Given the description of an element on the screen output the (x, y) to click on. 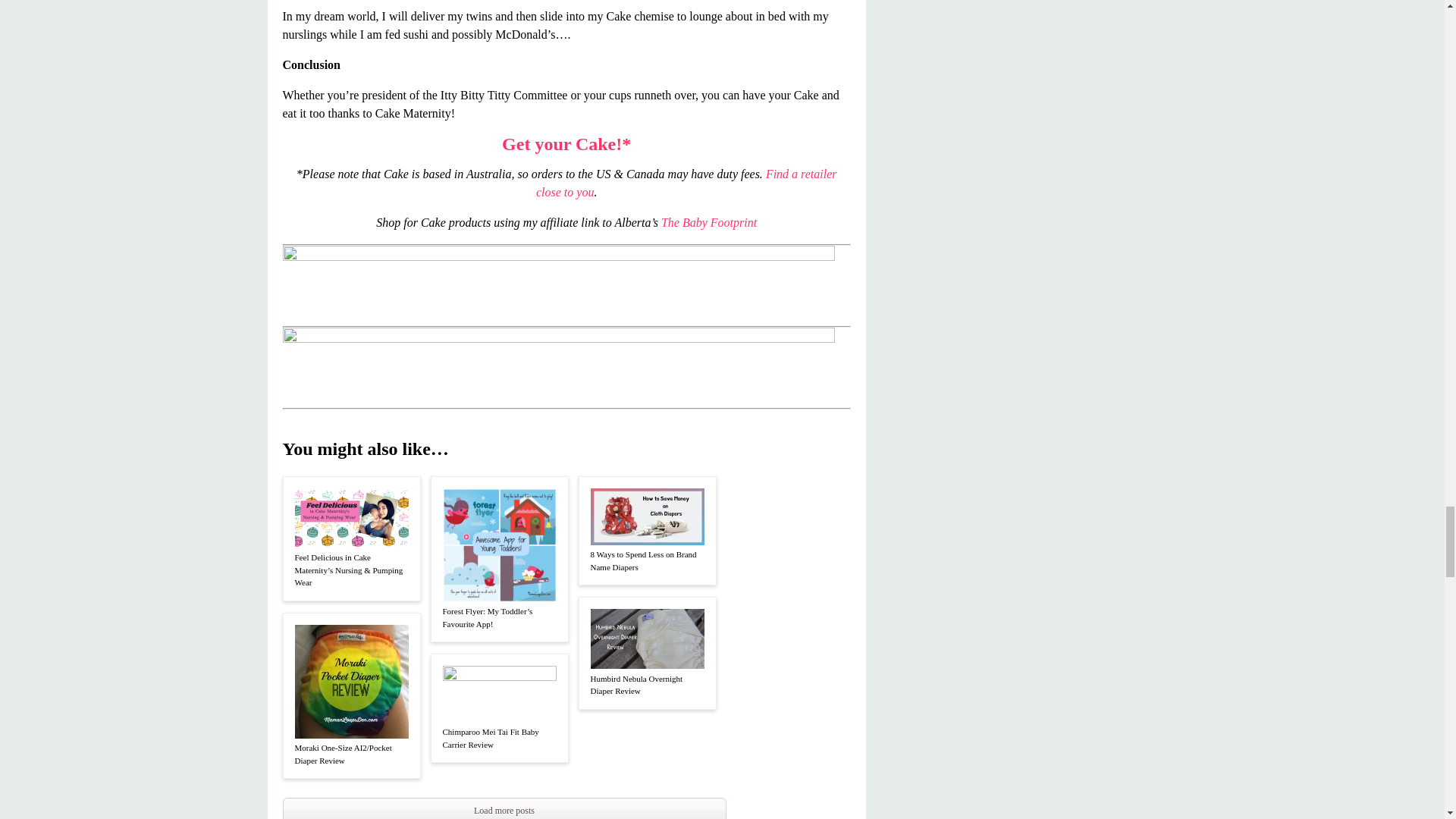
The Baby Footprint (709, 222)
Find a retailer close to you (686, 183)
